Given the description of an element on the screen output the (x, y) to click on. 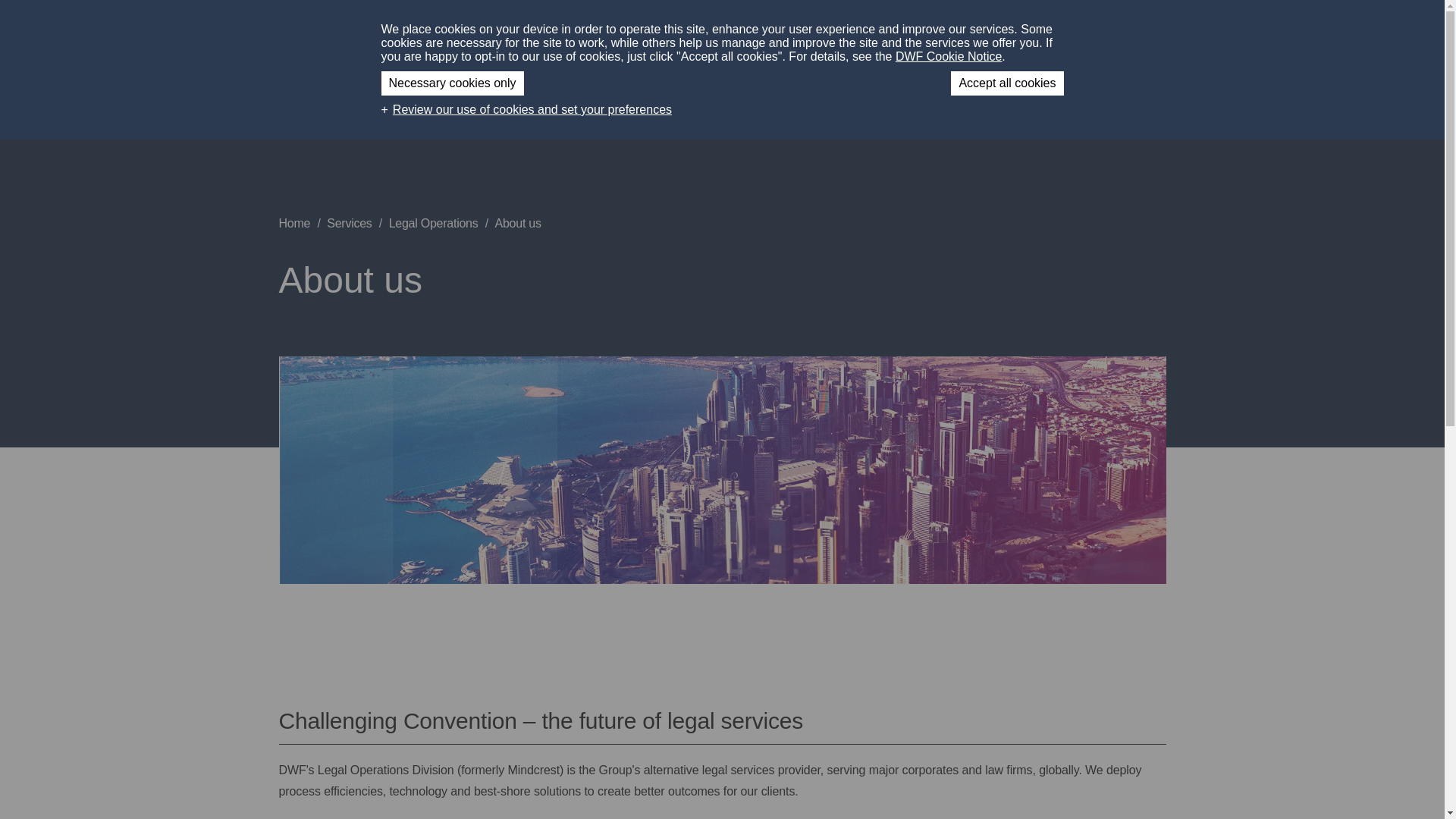
SUSTAINABILITY (813, 30)
ABOUT (728, 30)
CLIENT LOGIN (1063, 30)
LOCATIONS (898, 30)
CAREERS (977, 30)
HOME (671, 30)
